Given the description of an element on the screen output the (x, y) to click on. 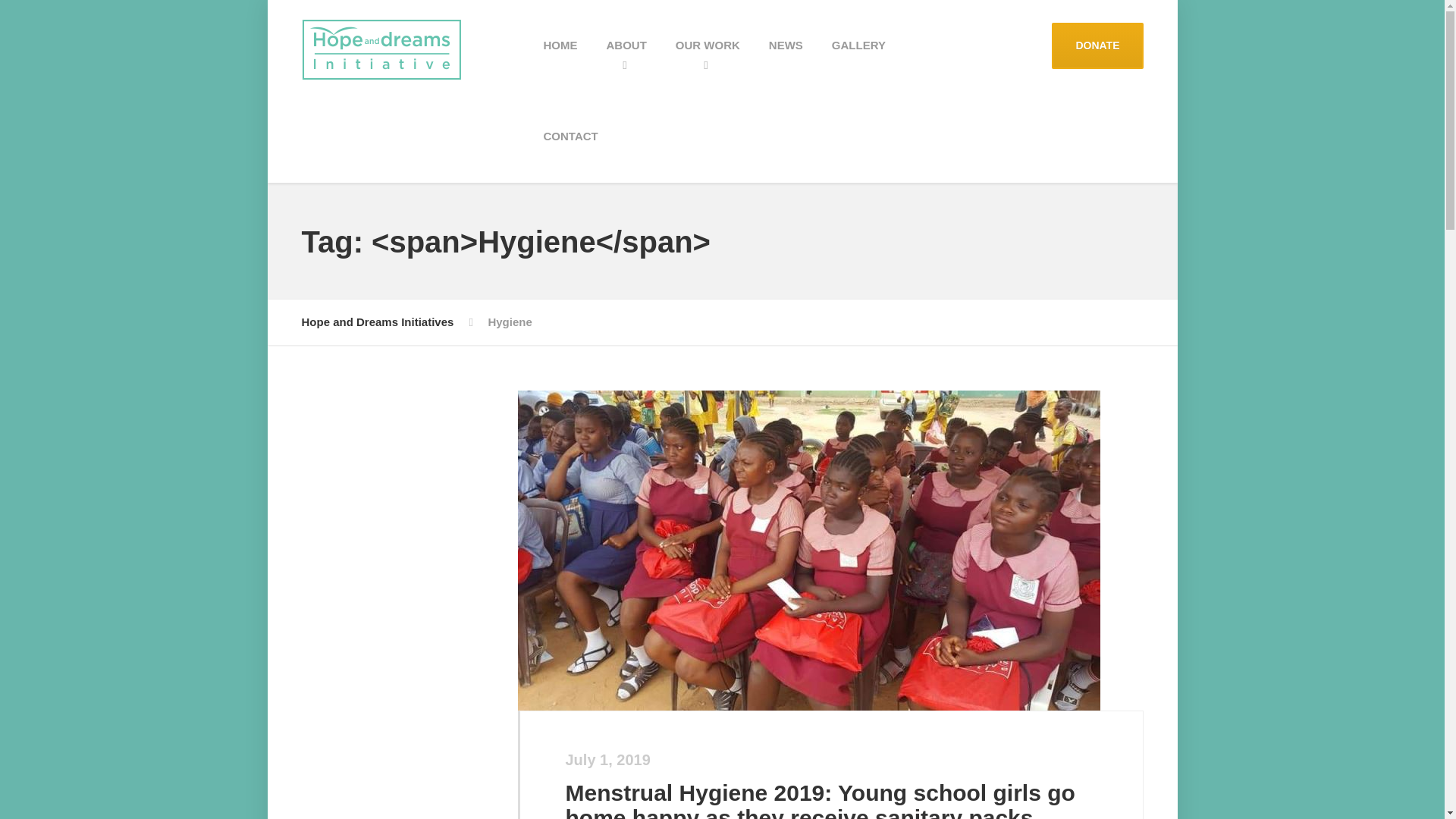
DONATE (1096, 45)
CONTACT (570, 135)
OUR WORK (707, 45)
Hope and Dreams Initiatives (377, 321)
Go to Hope and Dreams Initiatives. (377, 321)
GALLERY (857, 45)
